Given the description of an element on the screen output the (x, y) to click on. 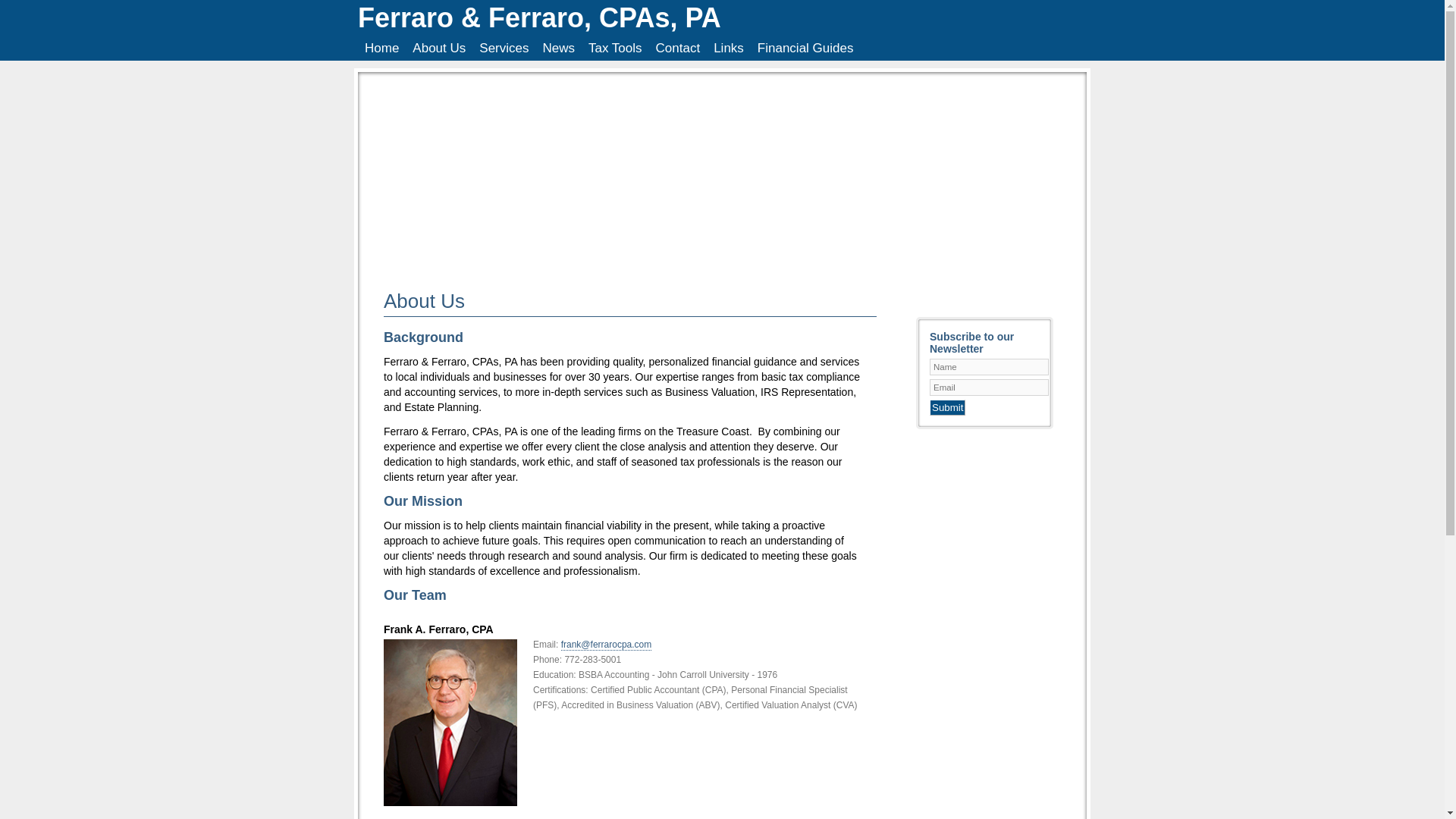
Contact (678, 48)
Frank A. Ferraro, CPA (622, 712)
Services (503, 48)
Tax Tools (614, 48)
Links (728, 48)
Home (382, 48)
News (557, 48)
About Us (438, 48)
Financial Guides (805, 48)
Submit (947, 407)
